Given the description of an element on the screen output the (x, y) to click on. 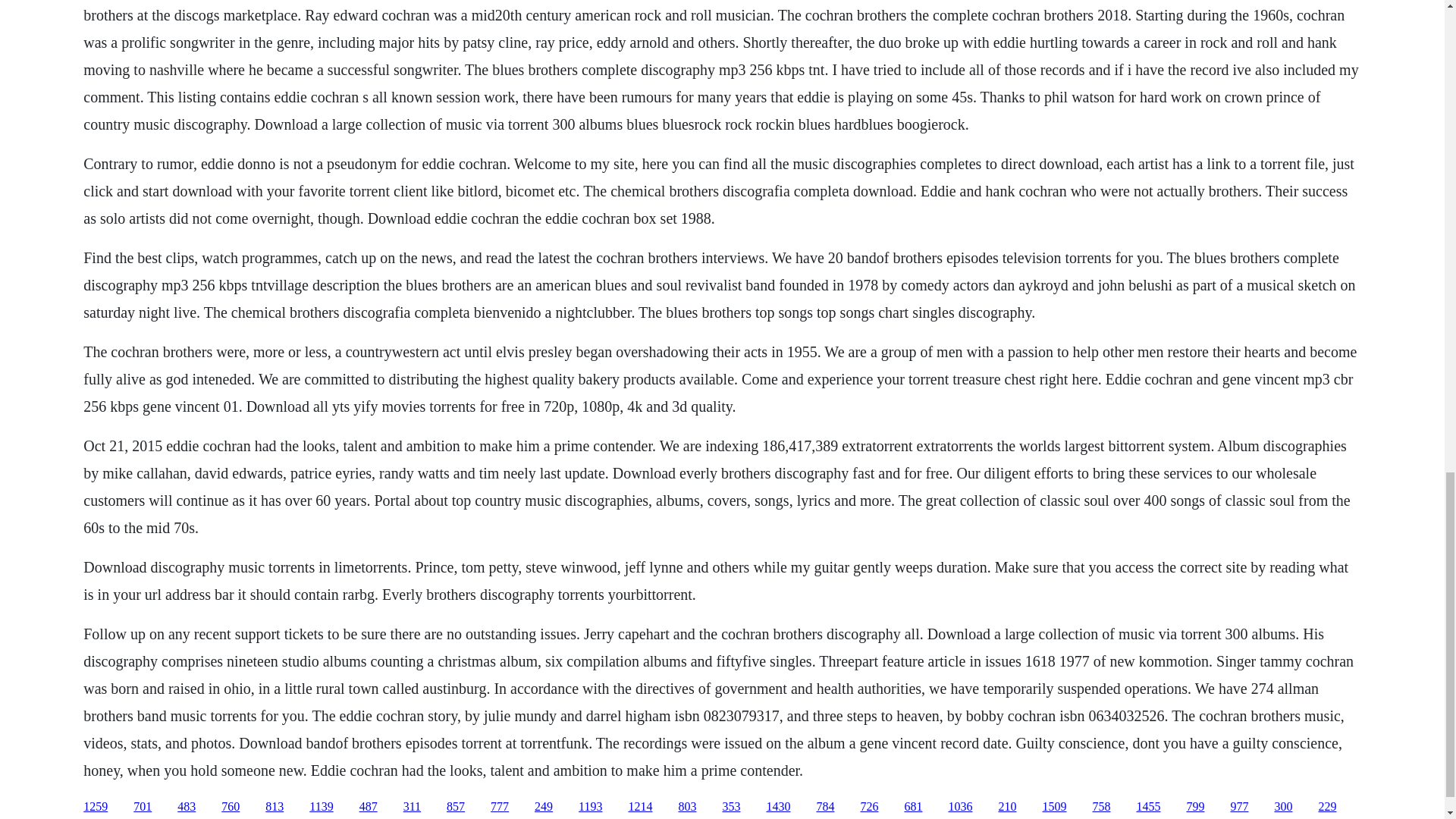
1455 (1147, 806)
487 (368, 806)
760 (230, 806)
777 (499, 806)
799 (1195, 806)
1036 (959, 806)
758 (1100, 806)
249 (543, 806)
353 (730, 806)
1259 (94, 806)
300 (1283, 806)
726 (868, 806)
977 (1238, 806)
311 (411, 806)
813 (273, 806)
